Given the description of an element on the screen output the (x, y) to click on. 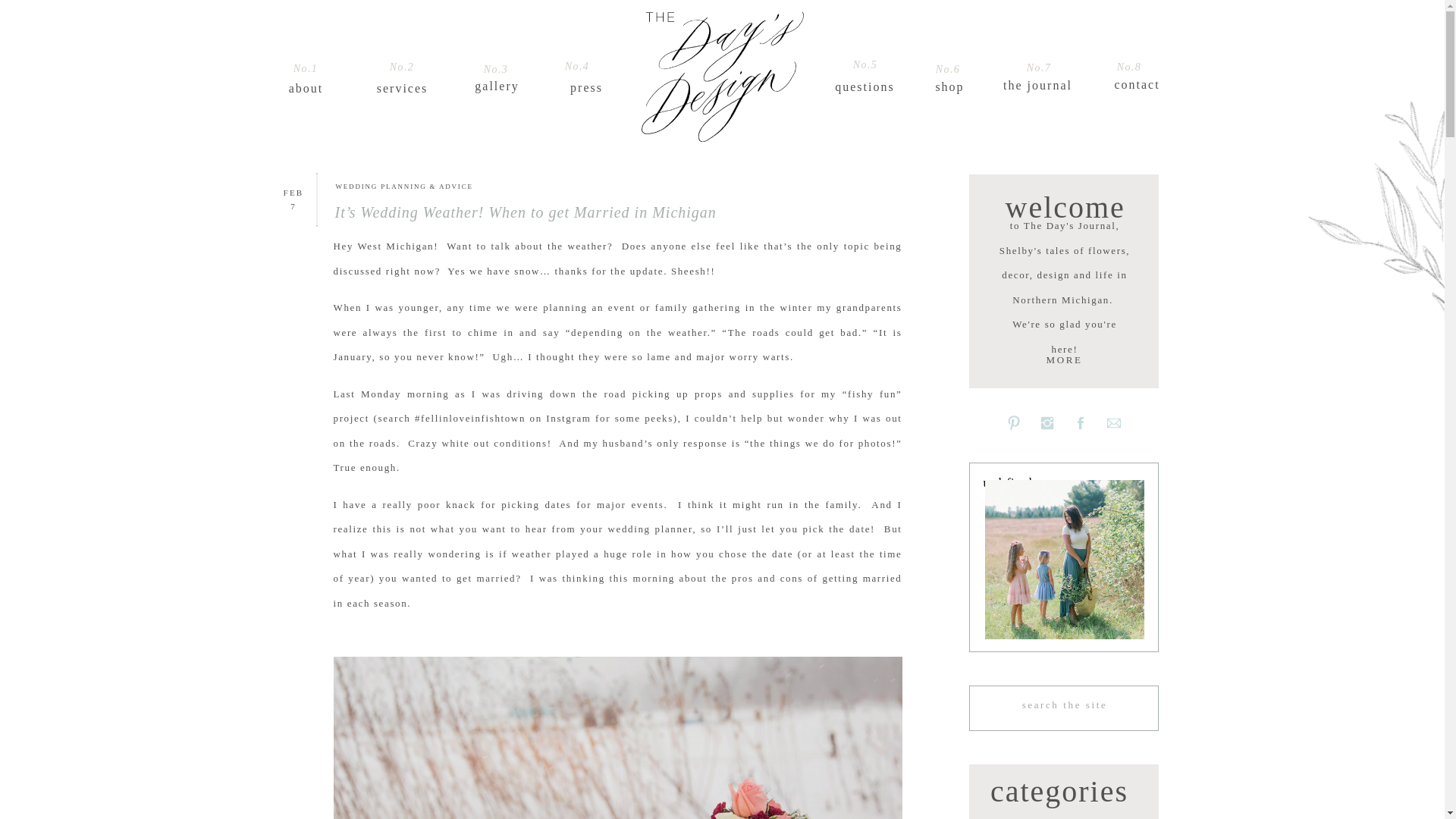
contact (1137, 77)
No.6 (947, 66)
questions (865, 80)
No.7 (1039, 64)
No.2 (401, 64)
No.8 (1128, 64)
the journal (1036, 78)
No.3 (496, 66)
press (585, 80)
shop (948, 80)
No.4 (576, 63)
No.1 (305, 65)
gallery (496, 79)
No.5 (864, 61)
about (305, 81)
